Given the description of an element on the screen output the (x, y) to click on. 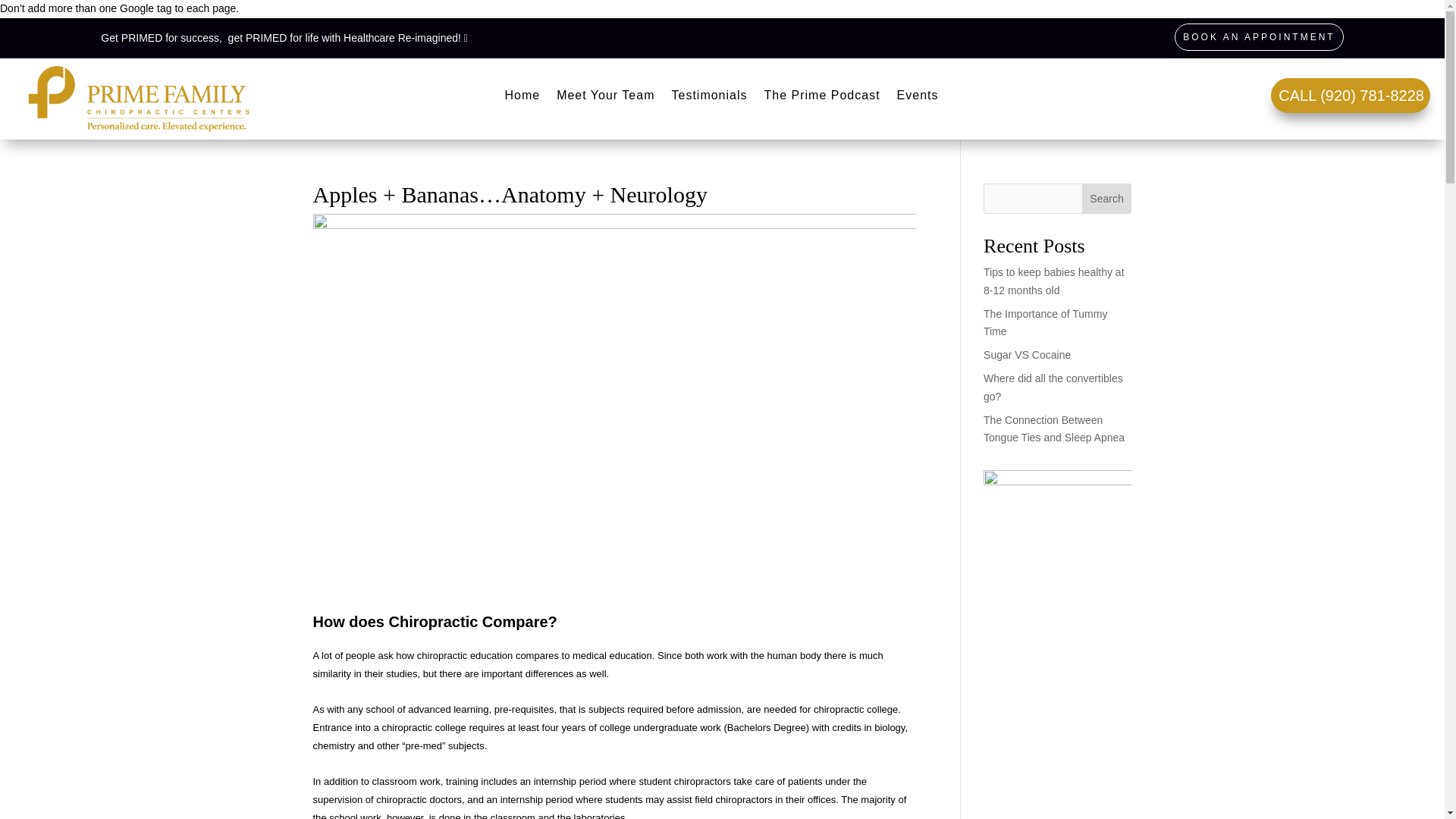
prime family gold logo (138, 99)
Sugar VS Cocaine (1027, 354)
The Connection Between Tongue Ties and Sleep Apnea (1054, 429)
Events (917, 98)
Home (521, 98)
Where did all the convertibles go? (1053, 387)
Testimonials (708, 98)
Meet Your Team (604, 98)
BOOK AN APPOINTMENT (1258, 36)
The Importance of Tummy Time (1045, 322)
